Given the description of an element on the screen output the (x, y) to click on. 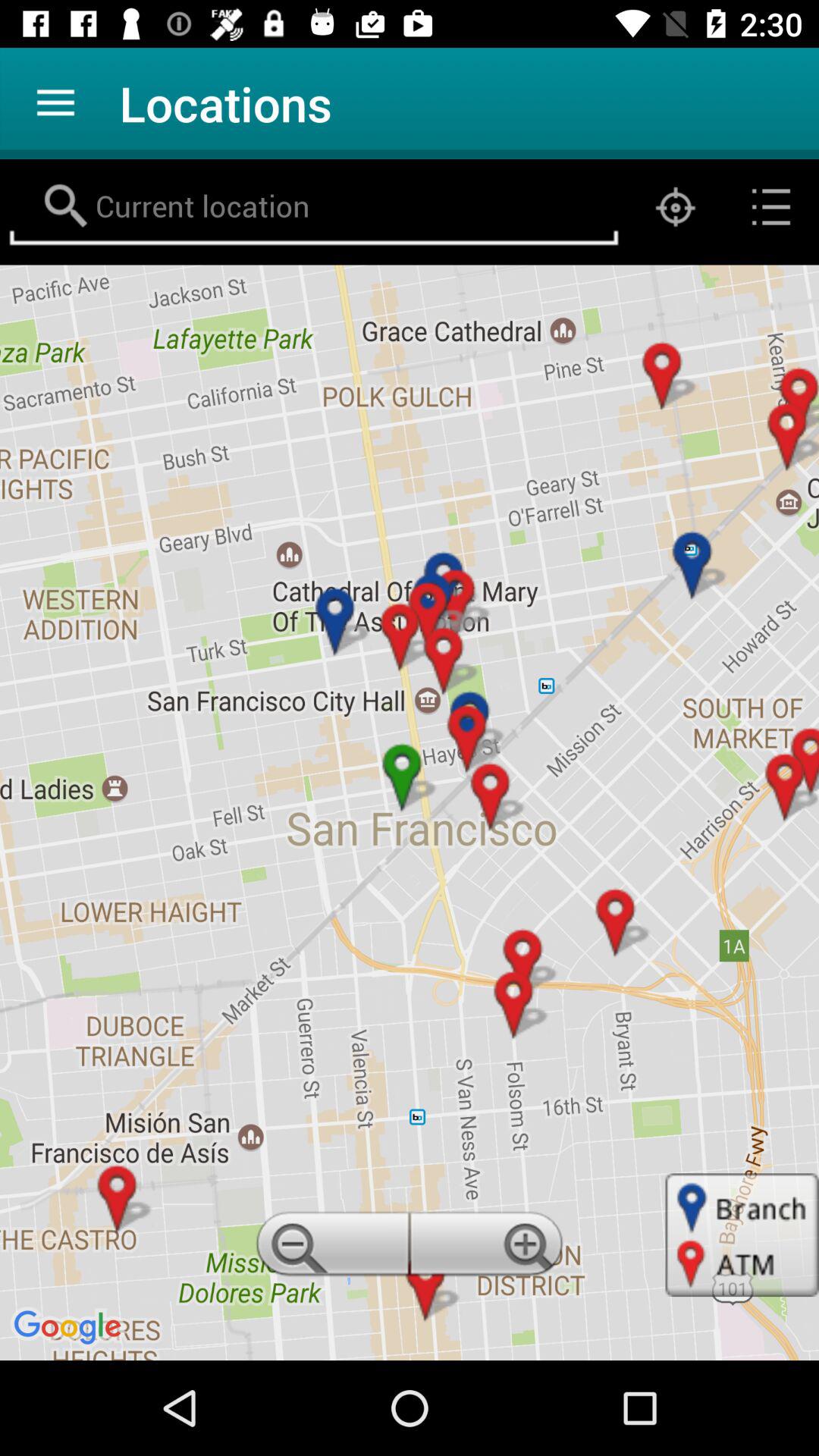
select the app next to the locations (55, 103)
